Given the description of an element on the screen output the (x, y) to click on. 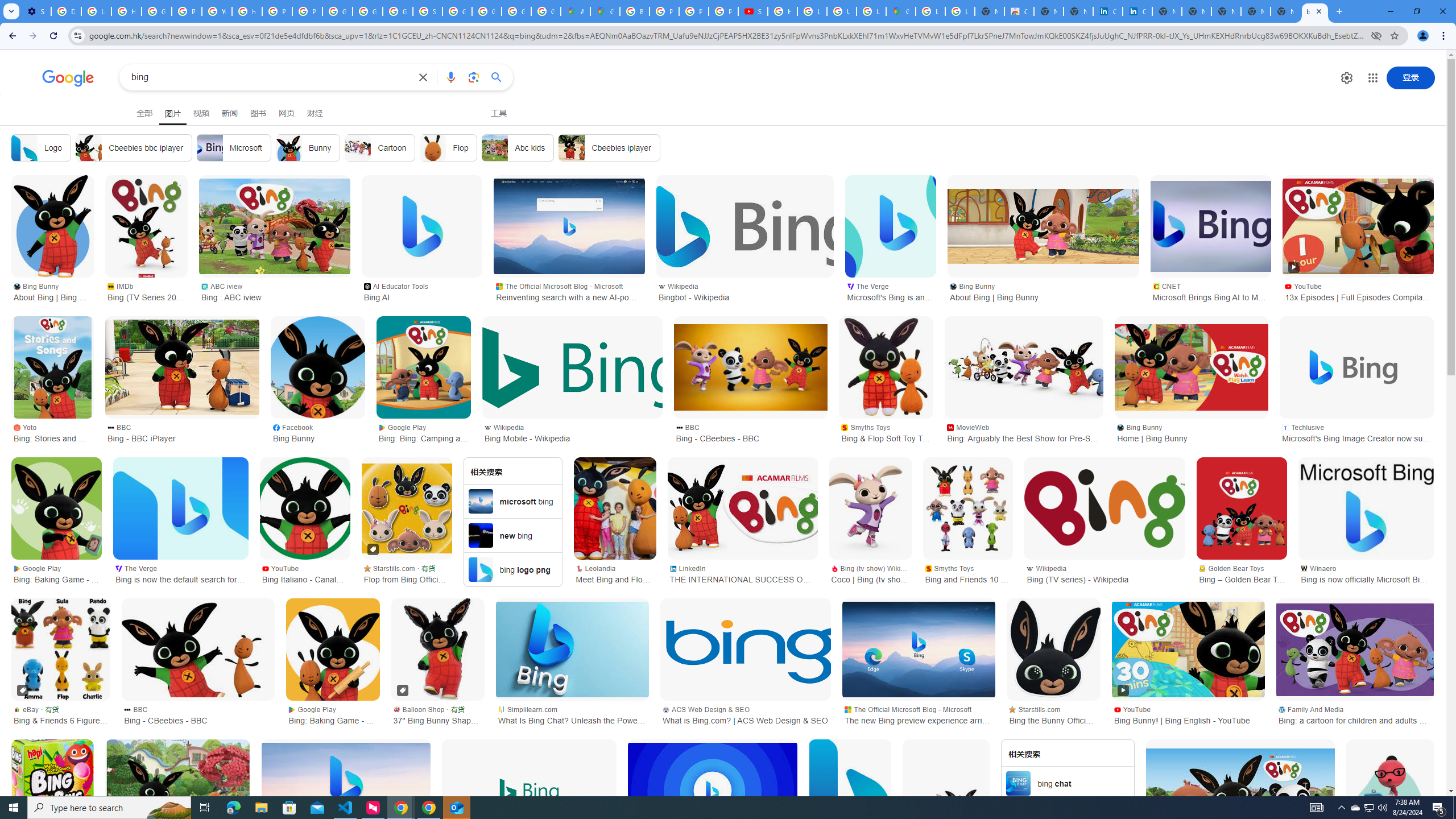
Microsoft Brings Bing AI to More Browsers - CNET (1210, 226)
Bing: Stories and Songs (52, 367)
Bing Mobile - Wikipedia (571, 367)
Bing is now the default search for ChatGPT - The Verge (180, 508)
YouTube Bing Italiano - Canale Ufficiale - YouTube (304, 573)
Yoto Bing: Stories and Songs (52, 431)
microsoft bing (512, 501)
CNET Microsoft Brings Bing AI to More Browsers - CNET (1210, 290)
Bing & Flop Soft Toy Twin Pack | Smyths Toys UK (885, 367)
